Given the description of an element on the screen output the (x, y) to click on. 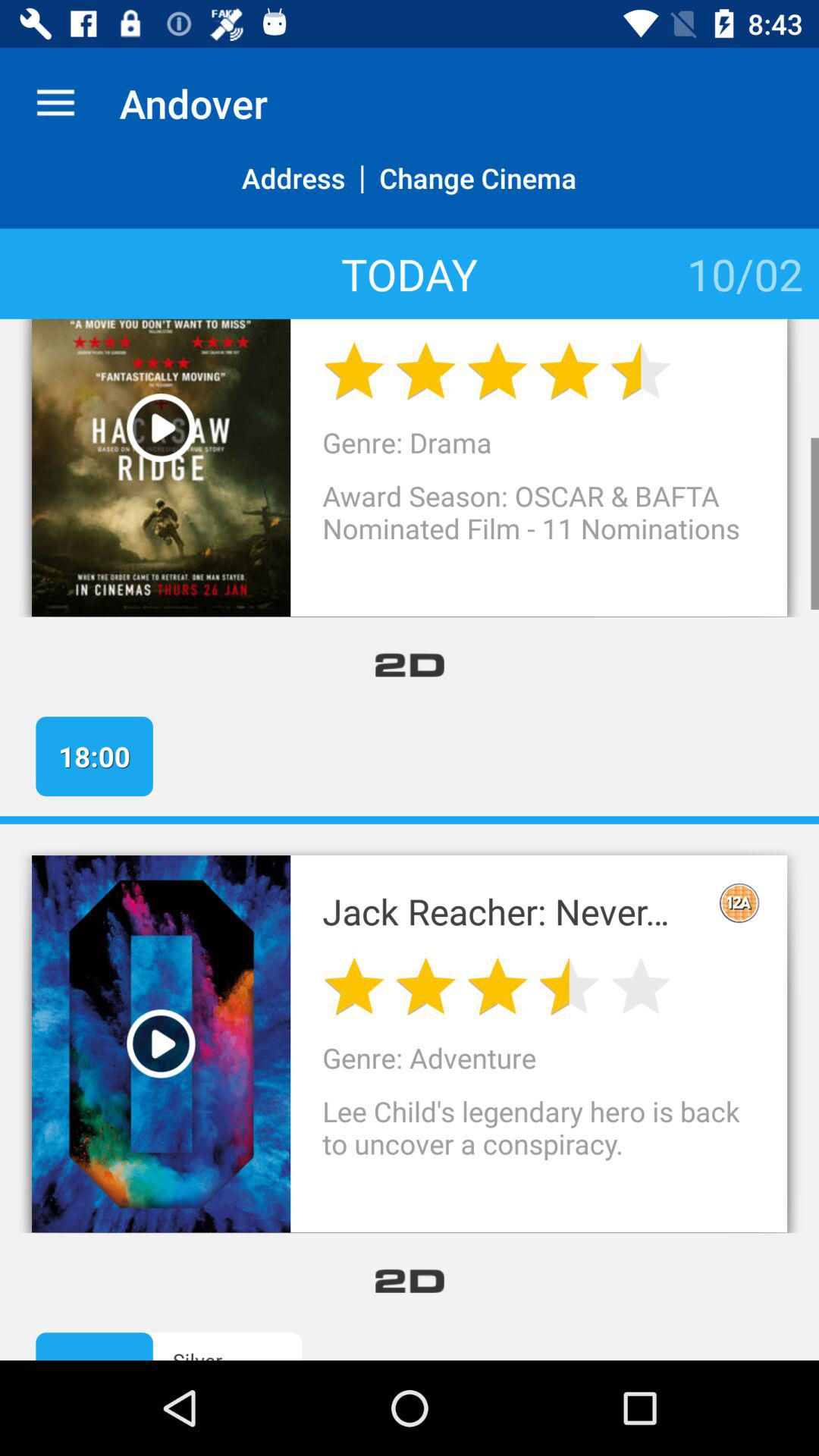
play video (160, 427)
